Given the description of an element on the screen output the (x, y) to click on. 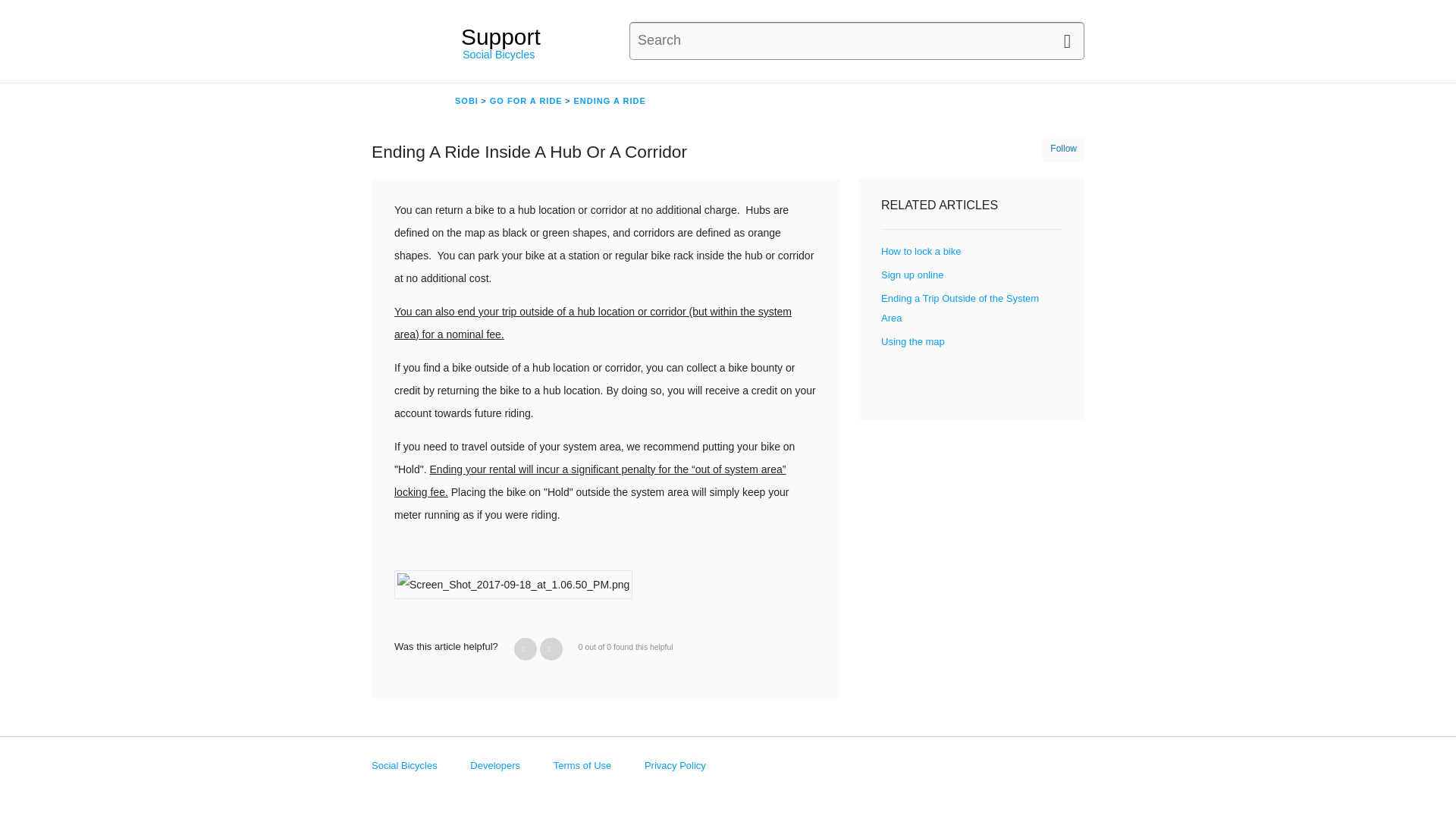
Terms of Use (582, 765)
Go for a Ride (521, 100)
Developers (494, 765)
How to lock a bike (920, 251)
SOBI (466, 100)
Ending a Trip Outside of the System Area (959, 307)
Search (22, 12)
GO FOR A RIDE (525, 100)
SoBi (466, 100)
Privacy Policy (675, 765)
